Given the description of an element on the screen output the (x, y) to click on. 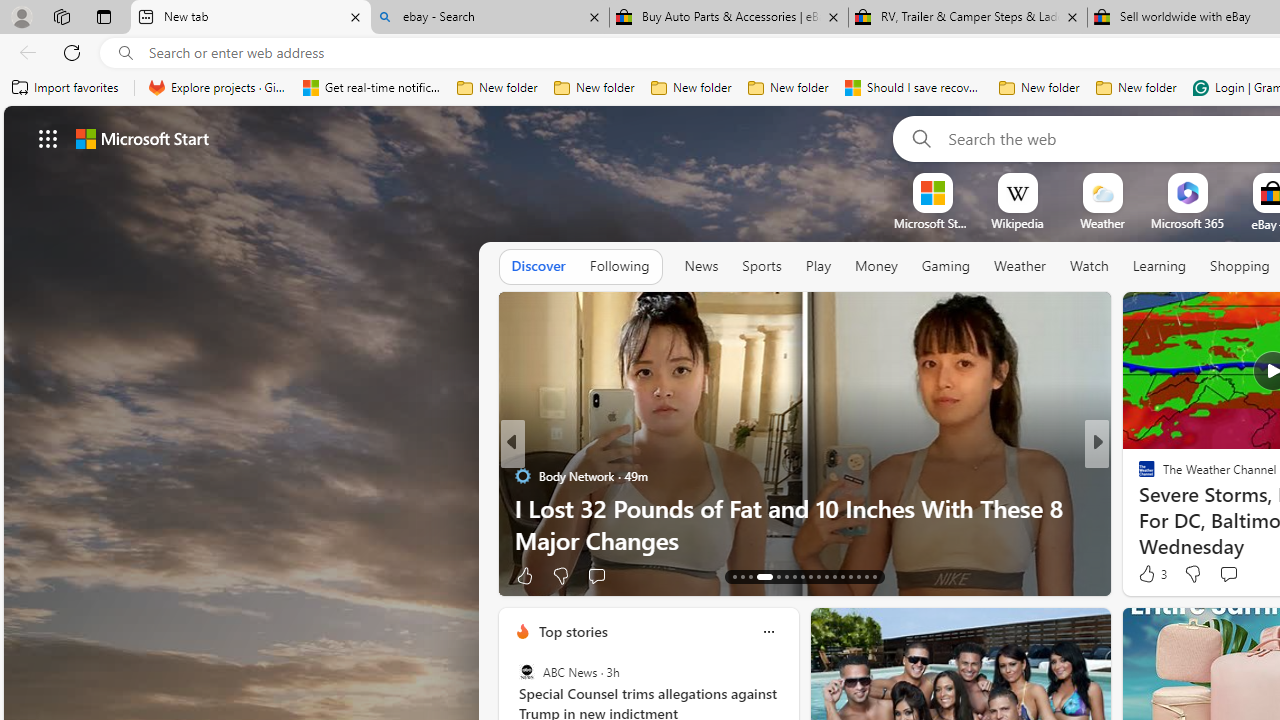
News (701, 267)
Microsoft 365 (1186, 223)
Play (817, 265)
AutomationID: tab-17 (772, 576)
32 Like (1149, 574)
Dislike (1191, 574)
Start the conversation (1228, 573)
View comments 8 Comment (1229, 575)
Spotlight Feature (1138, 475)
AutomationID: tab-21 (810, 576)
View comments 8 Comment (1234, 574)
